Given the description of an element on the screen output the (x, y) to click on. 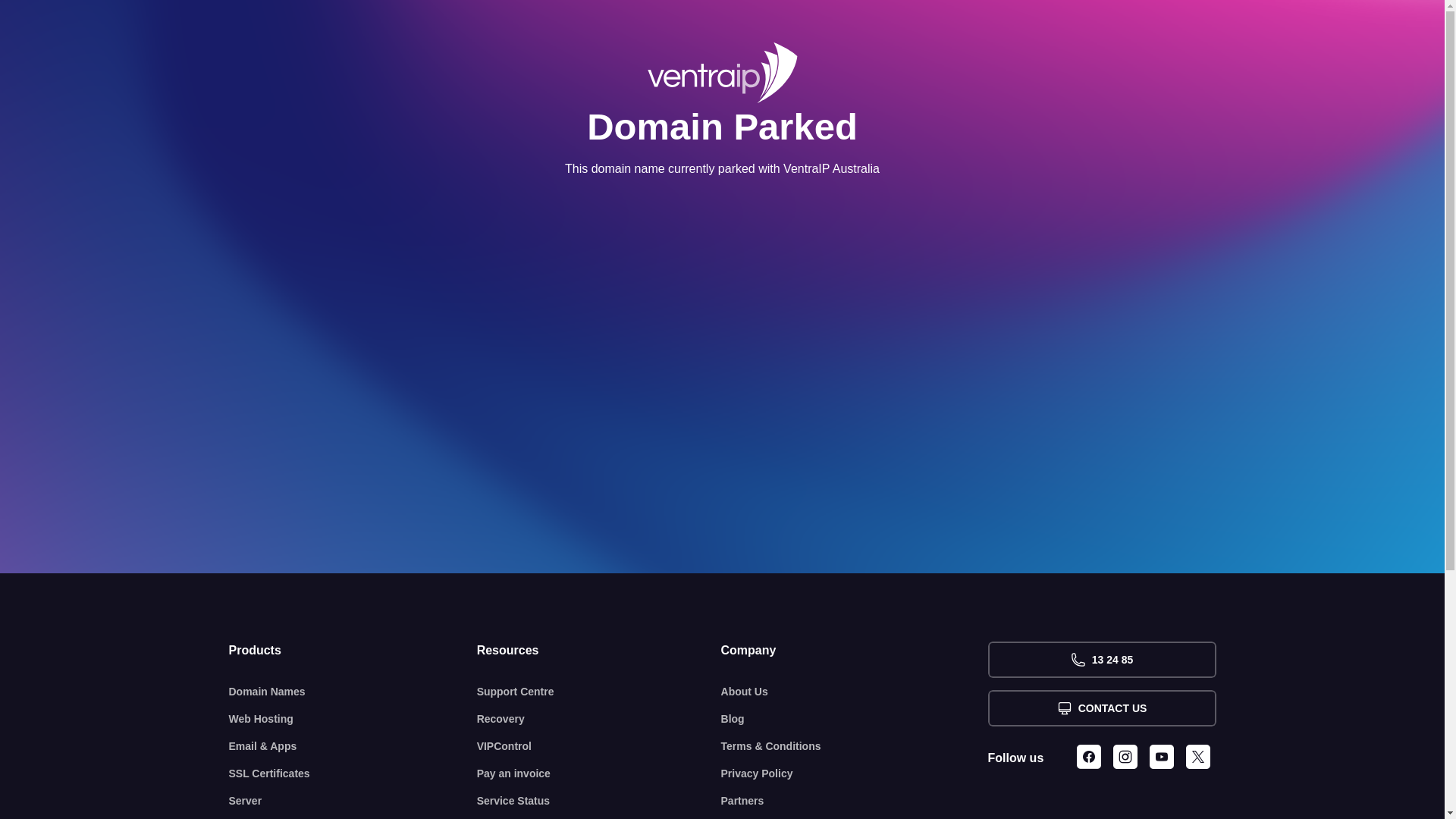
Server Element type: text (352, 800)
Support Centre Element type: text (598, 691)
Service Status Element type: text (598, 800)
Blog Element type: text (854, 718)
Privacy Policy Element type: text (854, 773)
Email & Apps Element type: text (352, 745)
SSL Certificates Element type: text (352, 773)
Partners Element type: text (854, 800)
VIPControl Element type: text (598, 745)
13 24 85 Element type: text (1101, 659)
Domain Names Element type: text (352, 691)
Terms & Conditions Element type: text (854, 745)
Pay an invoice Element type: text (598, 773)
CONTACT US Element type: text (1101, 708)
Recovery Element type: text (598, 718)
Web Hosting Element type: text (352, 718)
About Us Element type: text (854, 691)
